Given the description of an element on the screen output the (x, y) to click on. 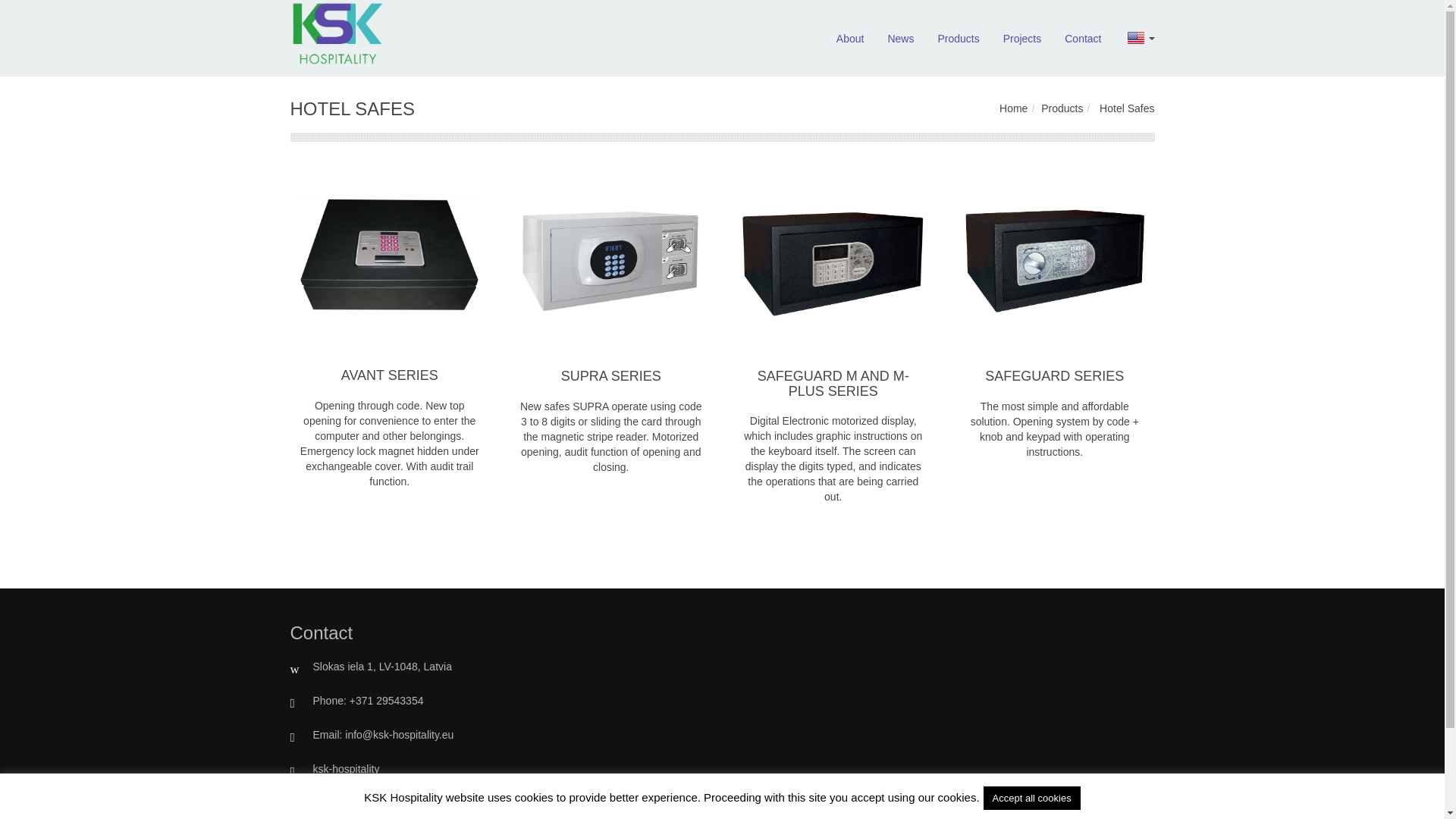
AVANT SERIES (389, 375)
News (900, 38)
KSK Hospitality (336, 38)
SAFEGUARD M AND M-PLUS SERIES (832, 383)
Safeguard series (1054, 261)
Products (958, 38)
Contact (1082, 38)
Home (1012, 108)
Avant series (389, 261)
Products (1062, 108)
Projects (1021, 38)
Supra series (610, 261)
Accept all cookies (1032, 797)
SAFEGUARD SERIES (1054, 376)
SUPRA SERIES (610, 376)
